Given the description of an element on the screen output the (x, y) to click on. 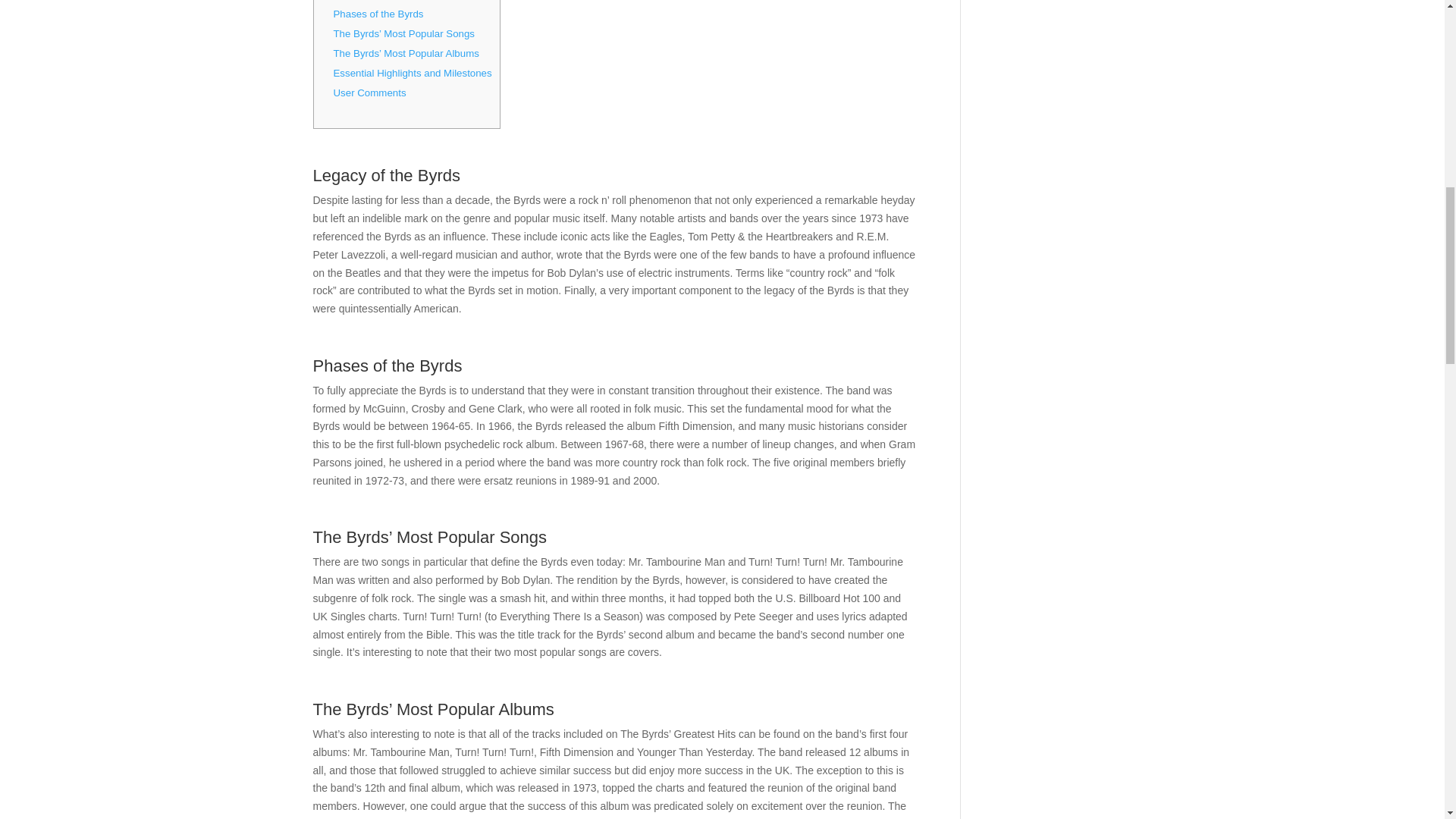
User Comments (369, 92)
Essential Highlights and Milestones (412, 72)
Phases of the Byrds (378, 13)
